Given the description of an element on the screen output the (x, y) to click on. 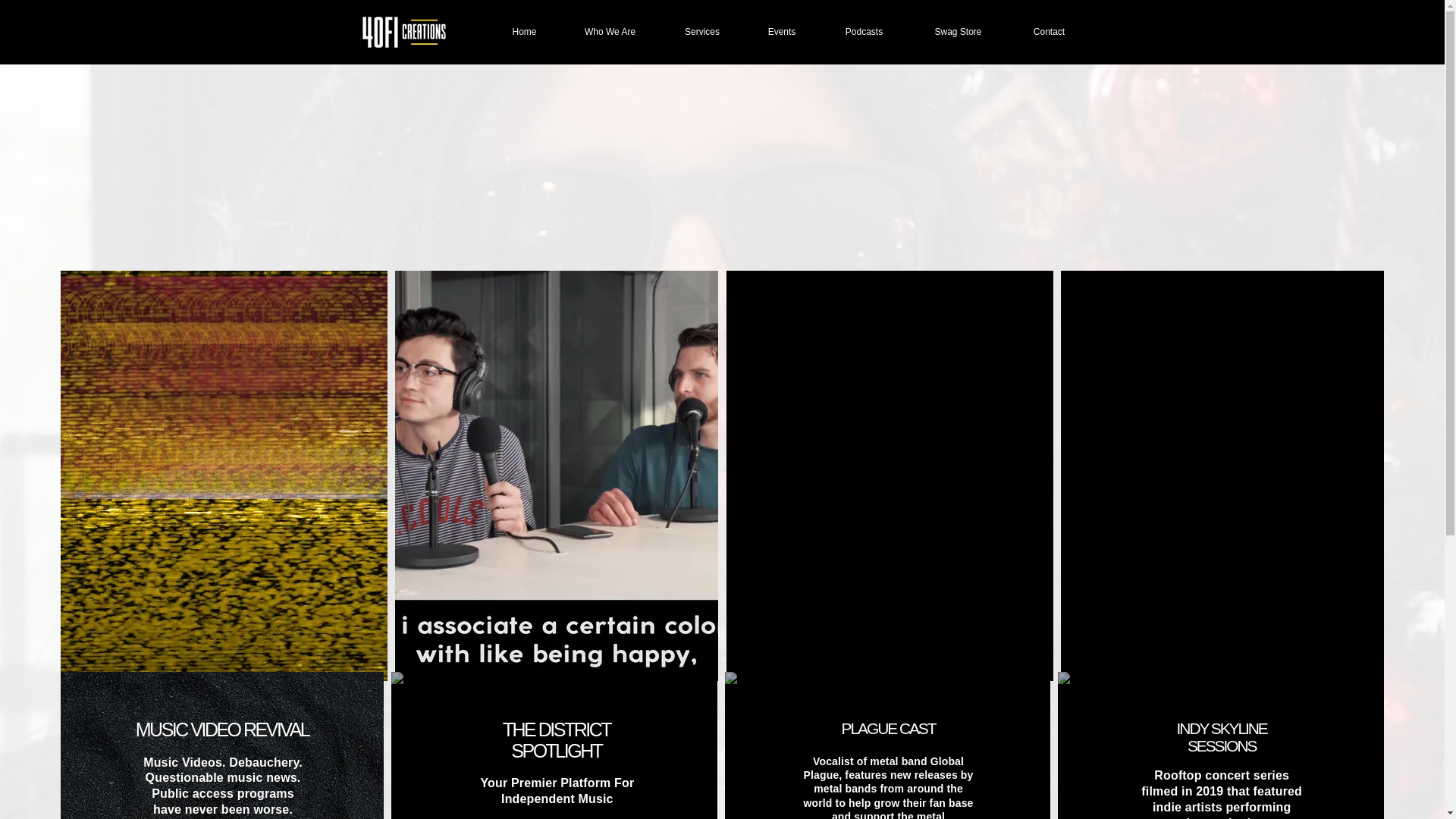
Who We Are (609, 32)
Events (781, 32)
Home (523, 32)
Services (701, 32)
Contact (1048, 32)
Swag Store (957, 32)
Podcasts (863, 32)
